Given the description of an element on the screen output the (x, y) to click on. 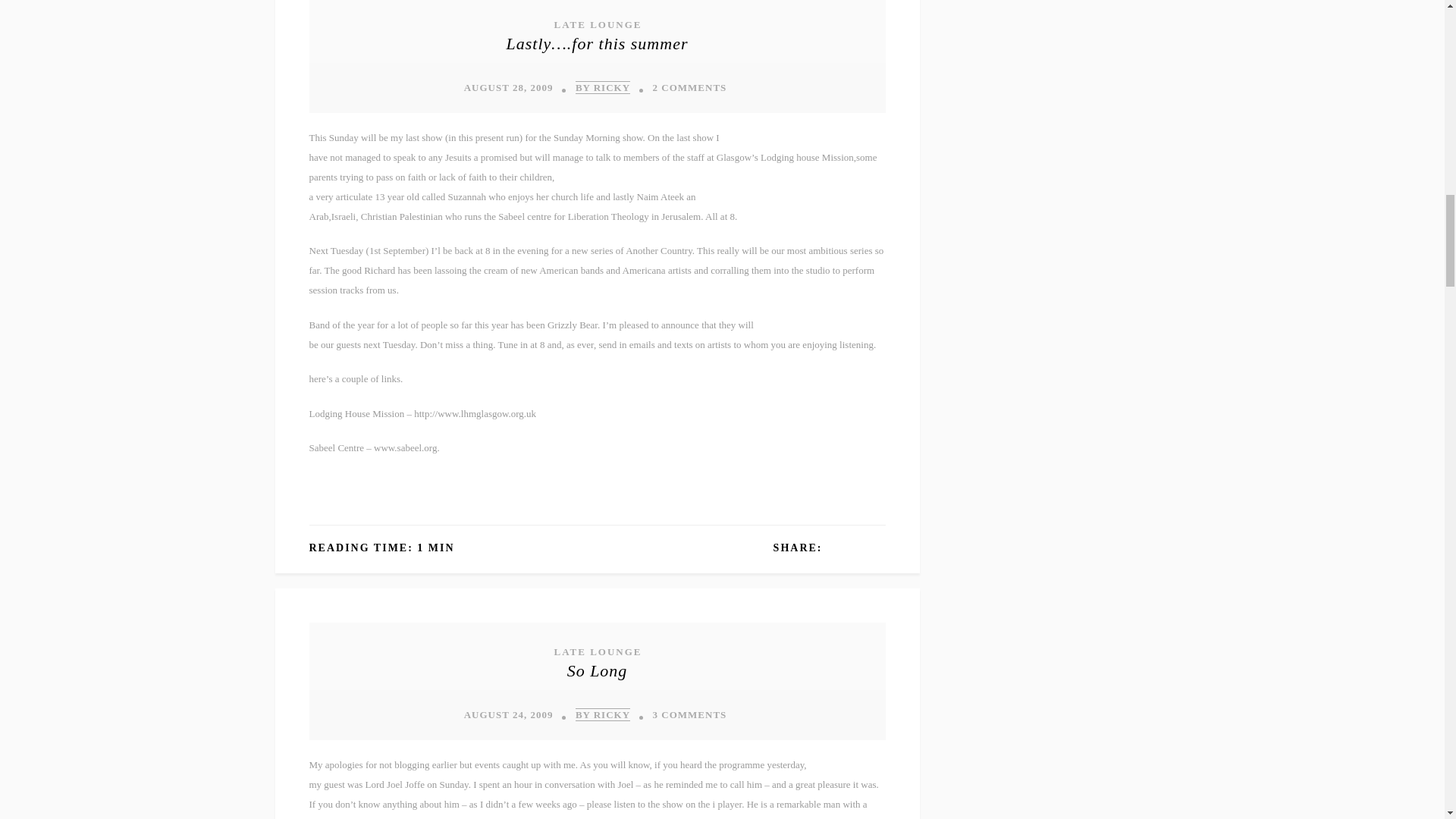
Permanent (597, 42)
LATE LOUNGE (596, 23)
Permanent (597, 670)
